Given the description of an element on the screen output the (x, y) to click on. 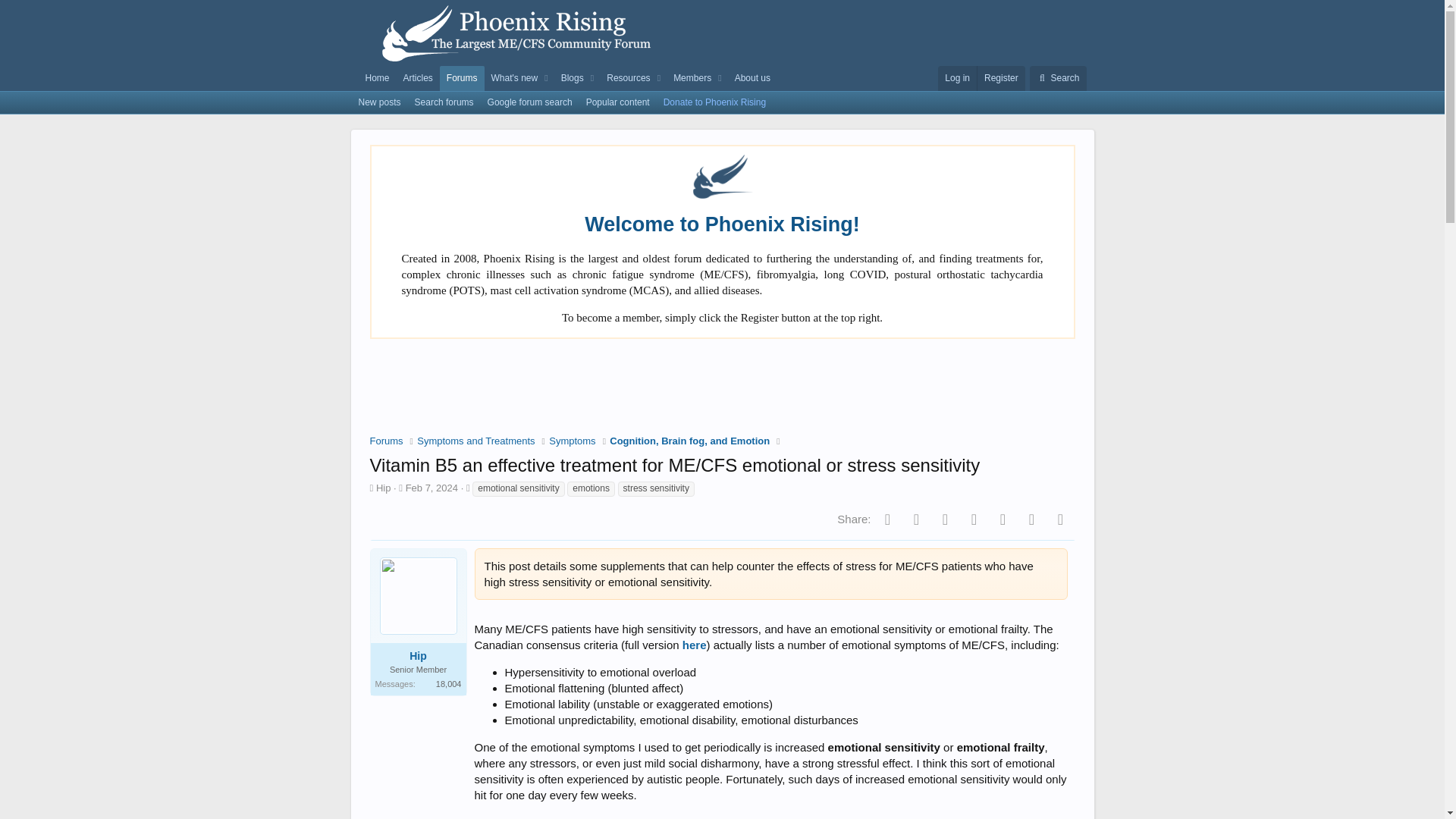
About us (752, 78)
Forums (461, 78)
Register (1000, 78)
Resources (624, 78)
Articles (417, 78)
Feb 7, 2024 at 1:15 PM (432, 487)
Home (377, 78)
Members (688, 78)
Search (1057, 78)
What's new (511, 78)
Search (1057, 78)
Log in (956, 78)
